Given the description of an element on the screen output the (x, y) to click on. 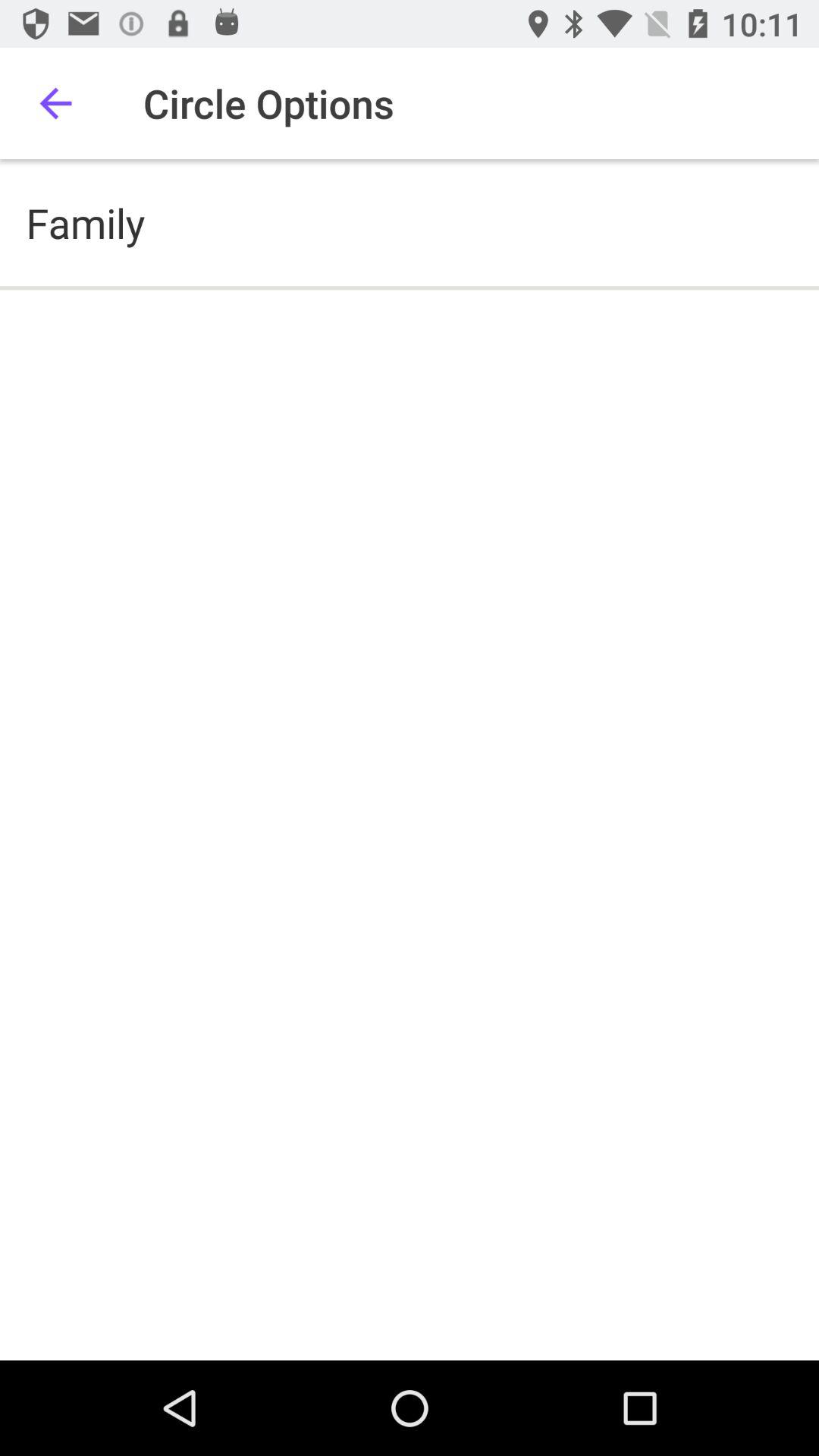
tap icon above family icon (55, 103)
